Given the description of an element on the screen output the (x, y) to click on. 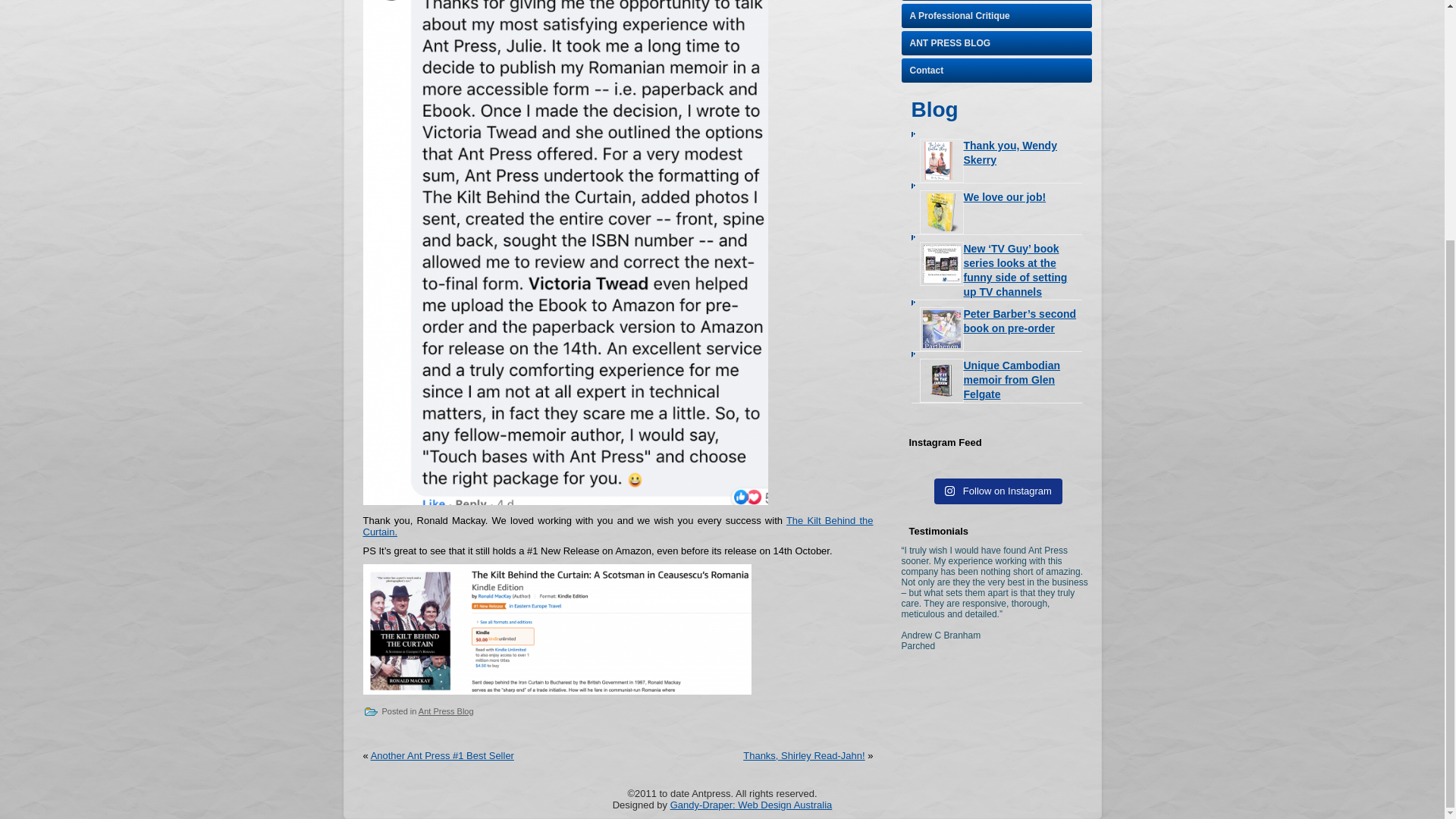
Ant Press Blog (446, 710)
Thanks, Shirley Read-Jahn! (803, 755)
The Kilt Behind the Curtain. (617, 526)
Thanks, Shirley Read-Jahn! (803, 755)
